Given the description of an element on the screen output the (x, y) to click on. 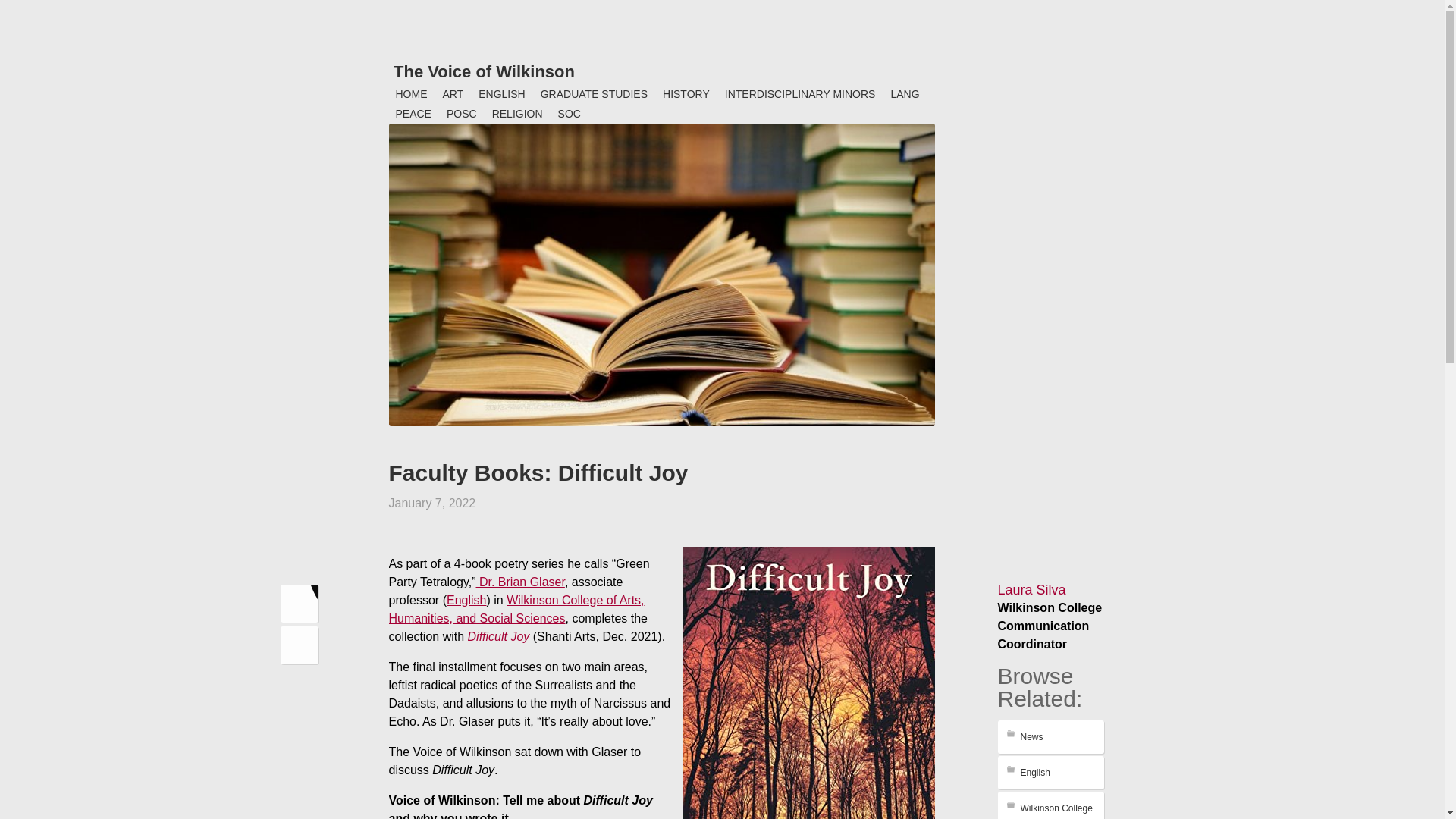
ENGLISH (501, 94)
POSC (461, 113)
Posts by Laura Silva (1031, 589)
The Voice of Wilkinson (484, 71)
Difficult Joy (498, 635)
English (1050, 772)
Laura Silva (1031, 589)
LANG (904, 94)
English (466, 599)
Wilkinson College (1050, 805)
